Given the description of an element on the screen output the (x, y) to click on. 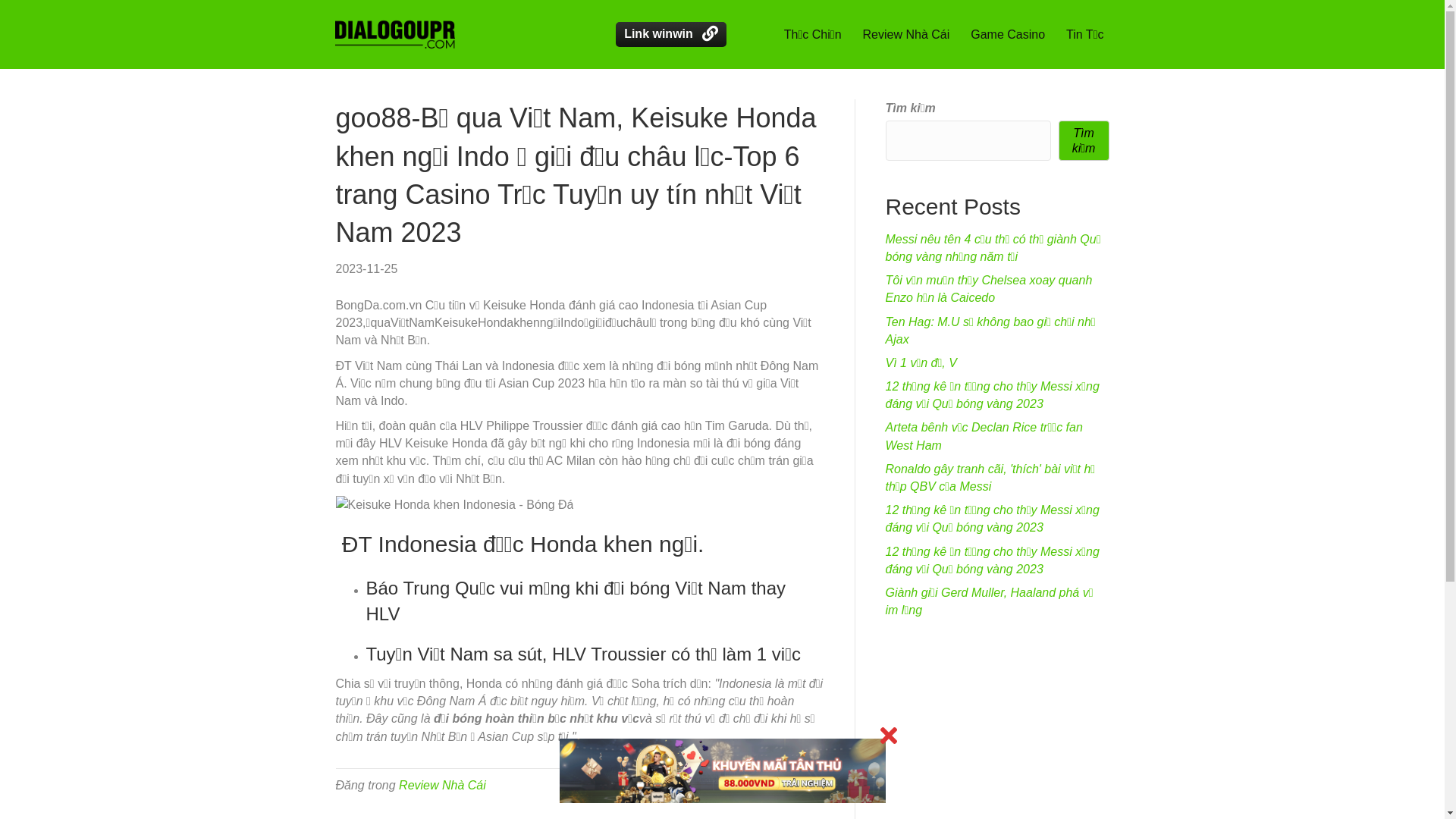
Game Casino Element type: text (1007, 34)
Dialogoupr-Logo Element type: hover (394, 34)
Link winwin Element type: text (670, 34)
